Given the description of an element on the screen output the (x, y) to click on. 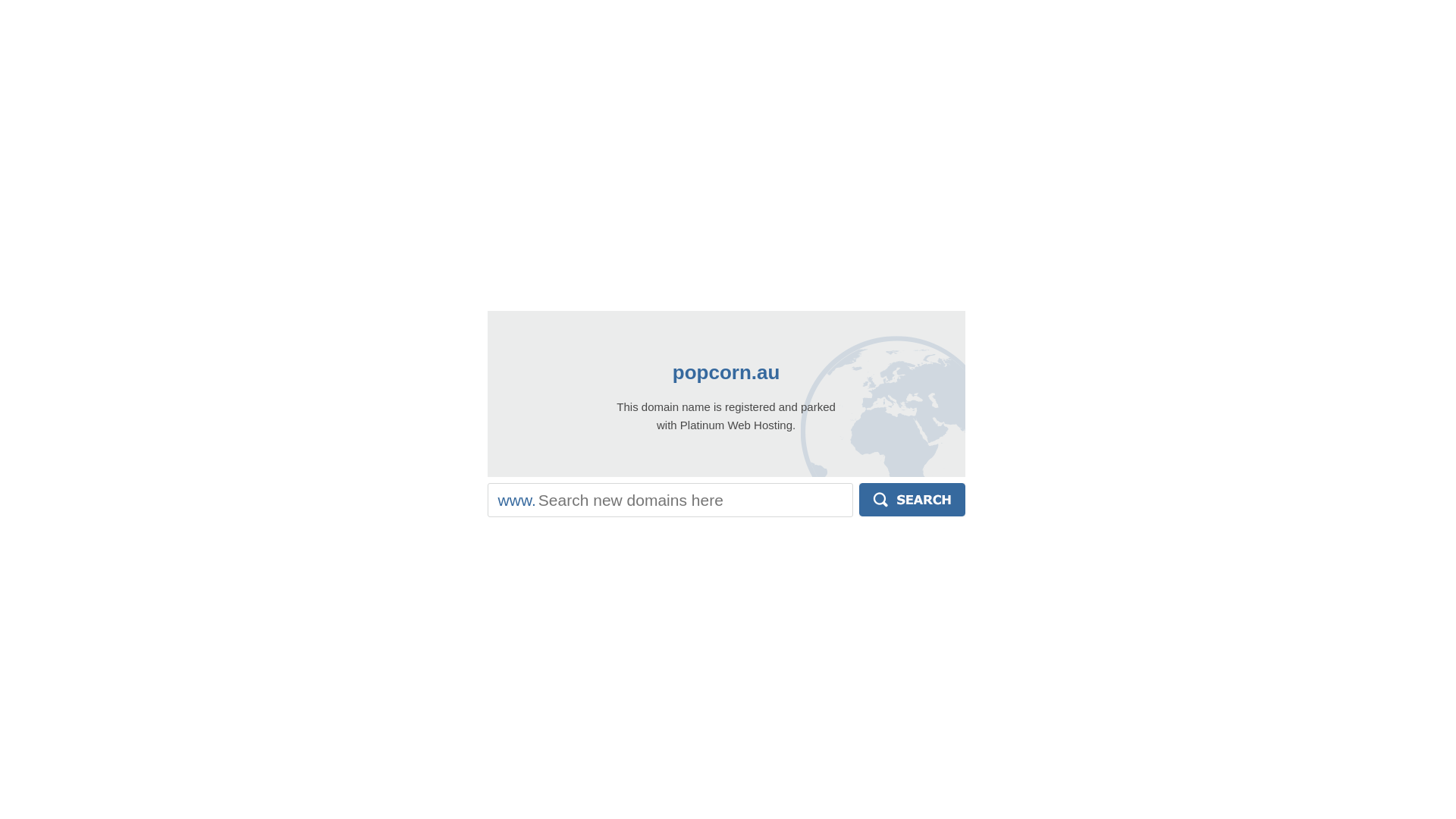
Search Element type: text (912, 499)
